Given the description of an element on the screen output the (x, y) to click on. 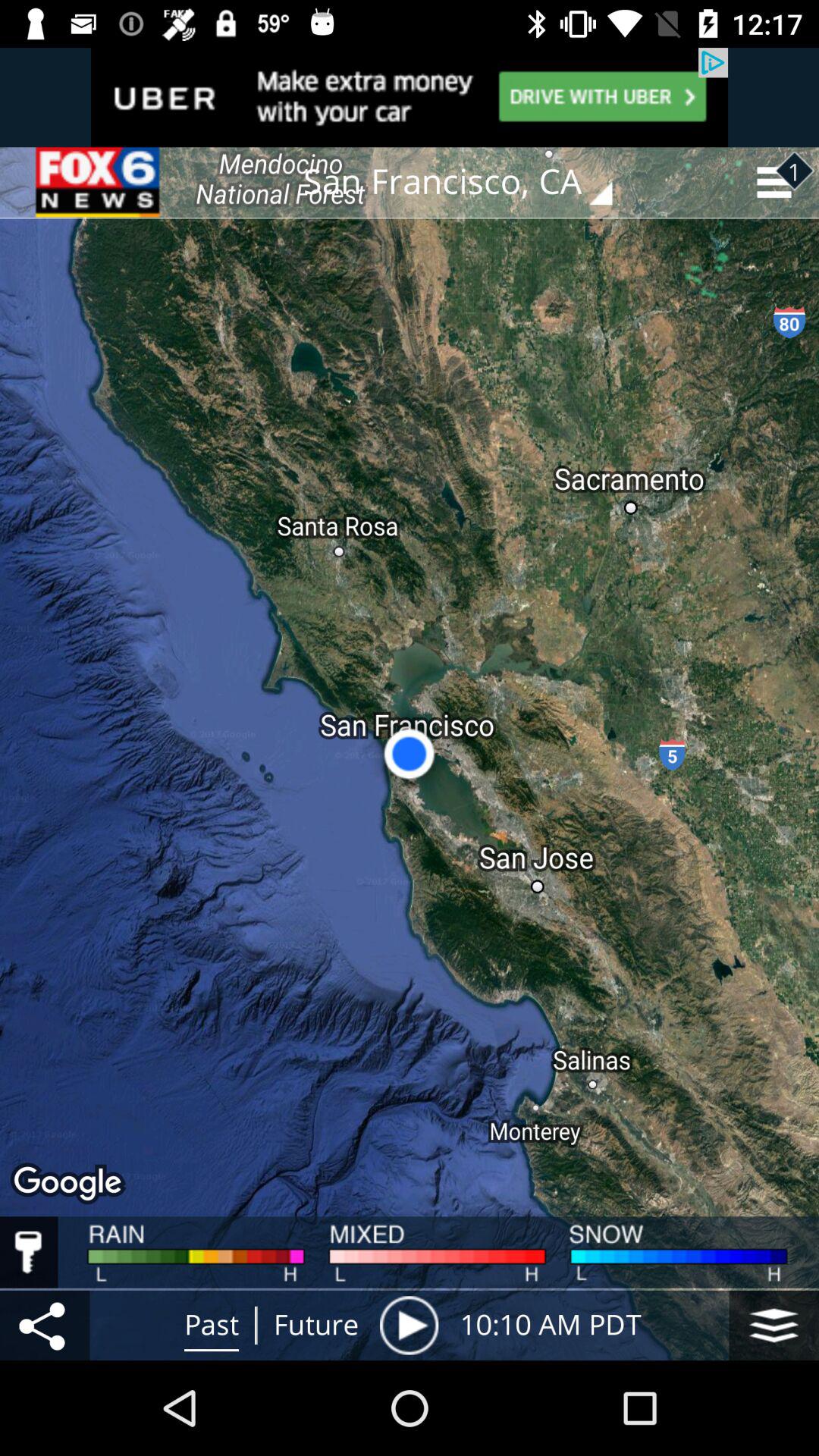
open the item next to san francisco, ca item (99, 182)
